Given the description of an element on the screen output the (x, y) to click on. 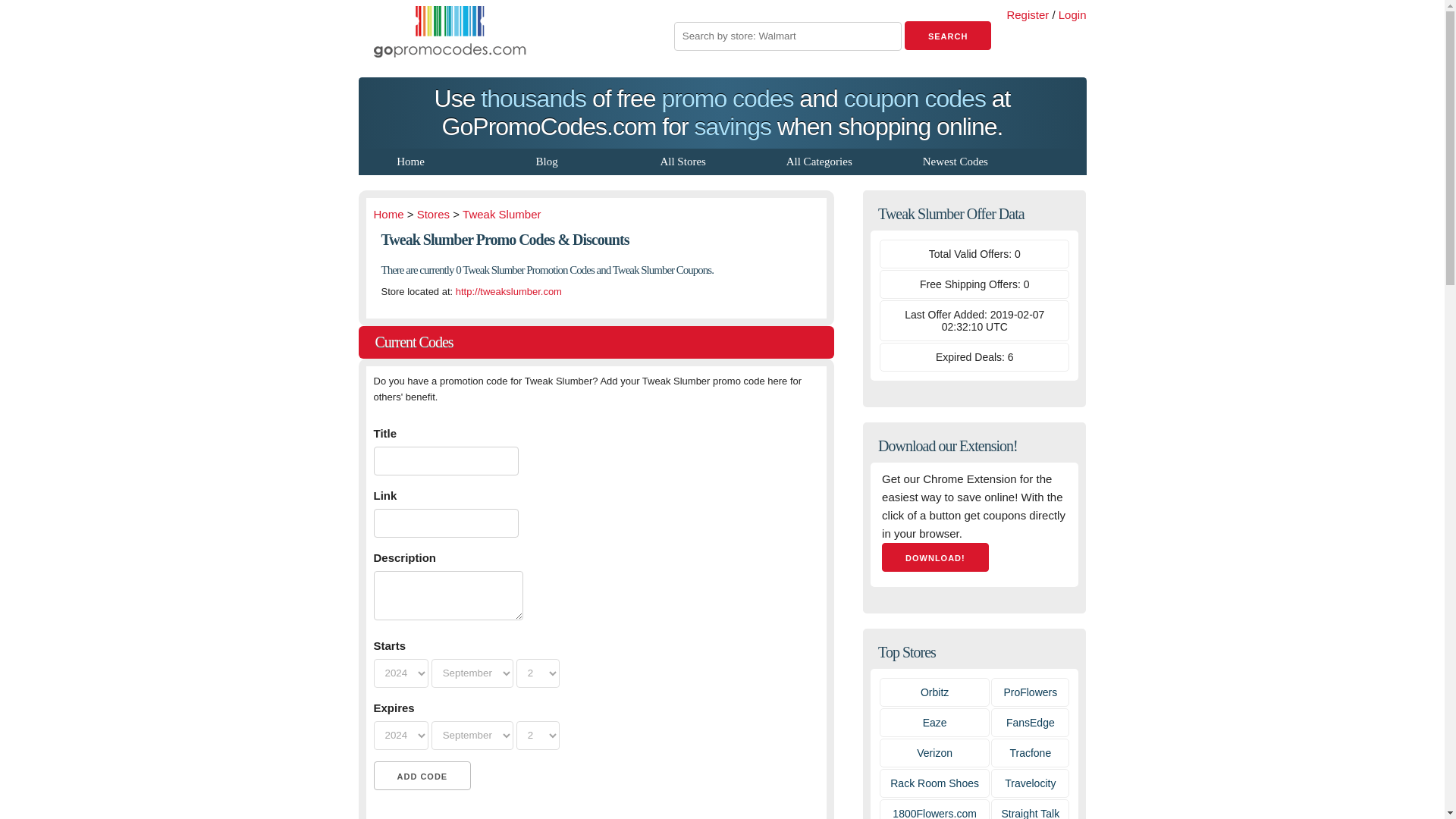
Tracfone (1030, 752)
Blog (546, 160)
Eaze (935, 721)
All Categories (818, 160)
Newest Codes (955, 160)
FansEdge (1030, 721)
ProFlowers (1030, 691)
Verizon (934, 752)
Add Code (421, 775)
Rack Room Shoes (933, 782)
